Given the description of an element on the screen output the (x, y) to click on. 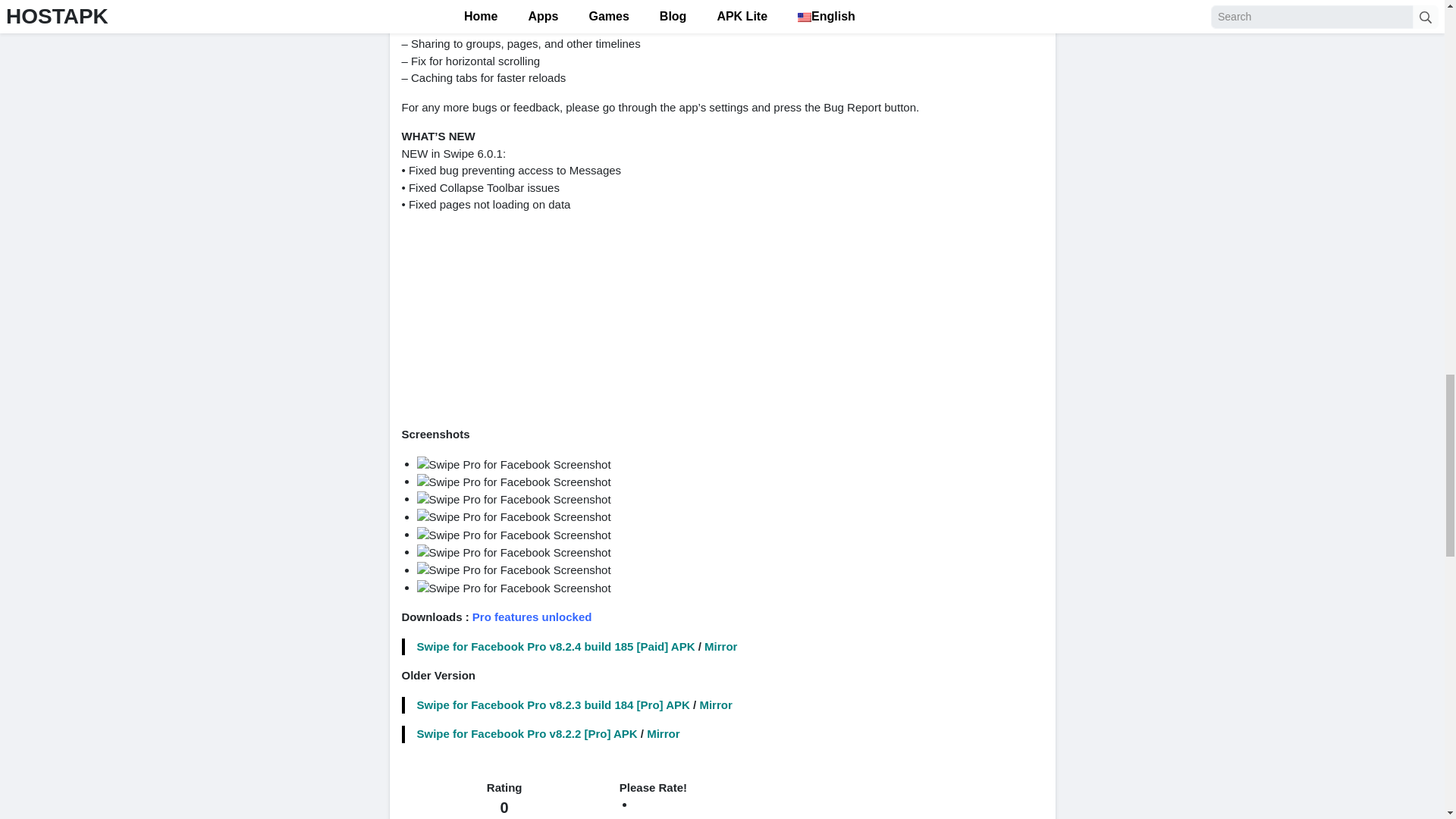
Mirror (715, 704)
Mirror (662, 733)
Mirror (720, 645)
